Given the description of an element on the screen output the (x, y) to click on. 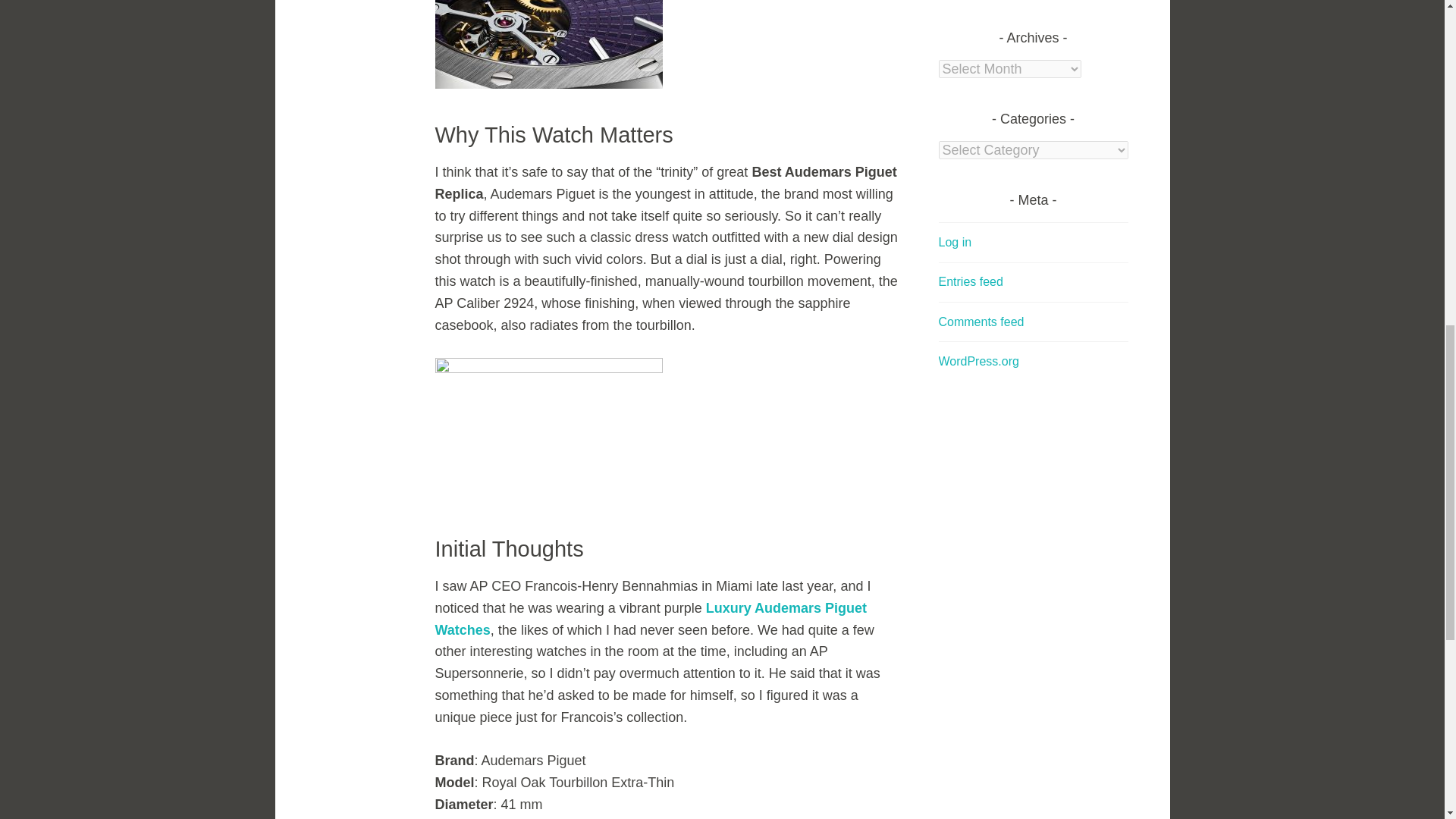
Entries feed (971, 281)
Comments feed (982, 321)
Log in (955, 241)
WordPress.org (979, 360)
Luxury Audemars Piguet Watches (651, 619)
